Given the description of an element on the screen output the (x, y) to click on. 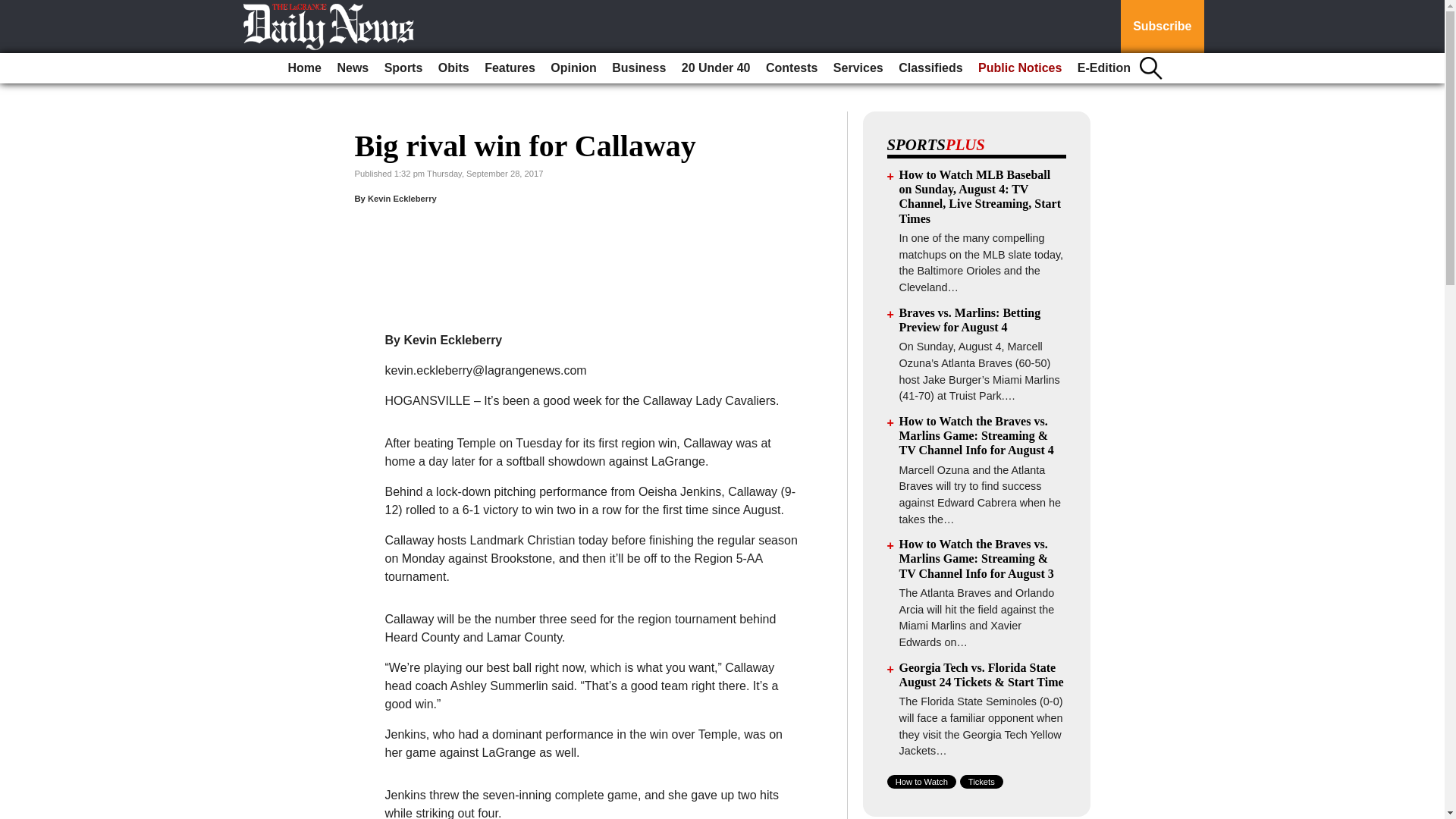
News (352, 68)
Home (304, 68)
20 Under 40 (716, 68)
Kevin Eckleberry (402, 660)
Sports (403, 68)
Features (510, 68)
Business (638, 68)
Contests (792, 68)
Public Notices (1019, 68)
Classifieds (930, 68)
Services (858, 68)
Subscribe (1162, 26)
Opinion (573, 68)
